Given the description of an element on the screen output the (x, y) to click on. 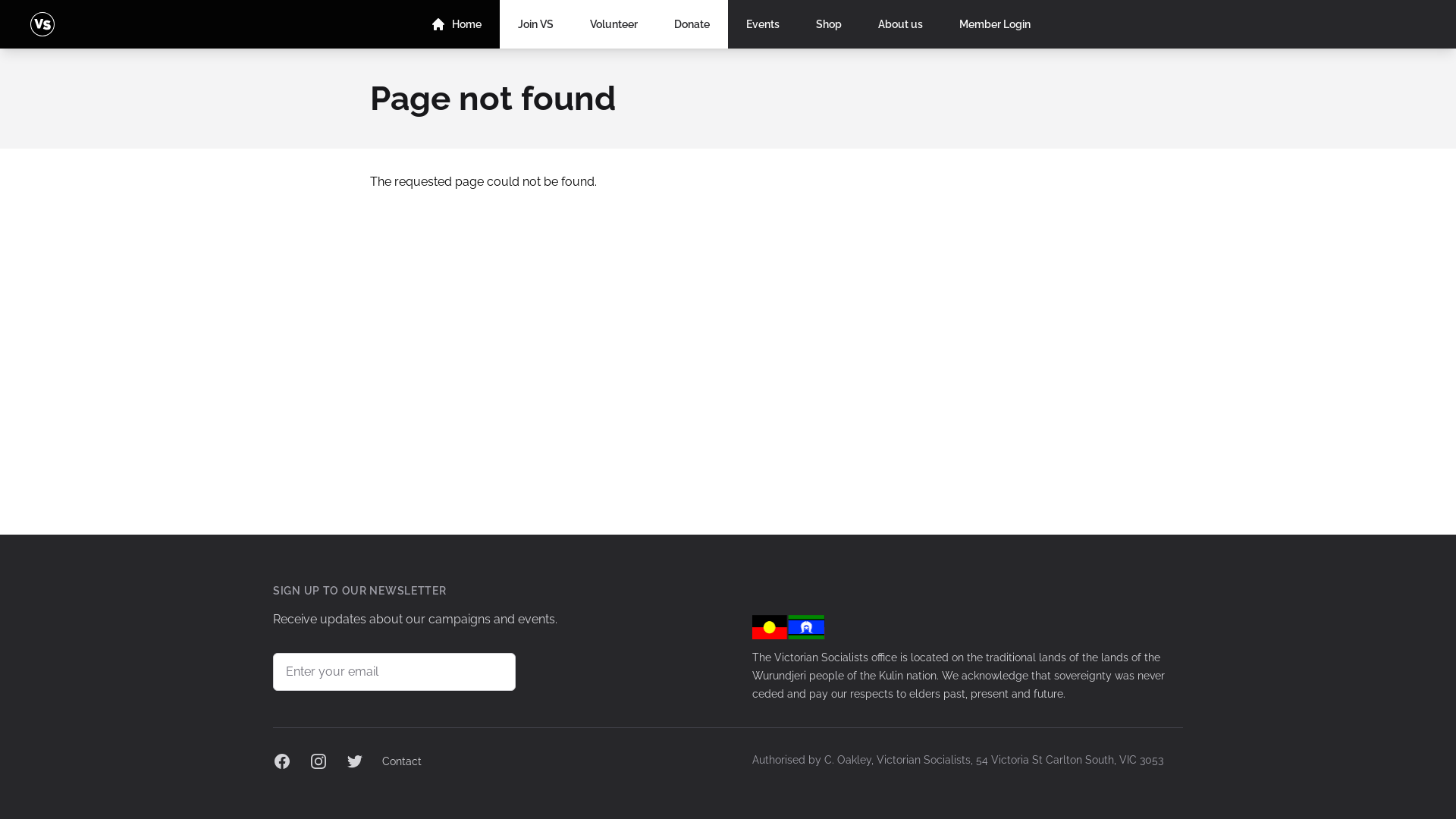
About us Element type: text (900, 24)
Home Element type: text (455, 24)
Donate Element type: text (691, 24)
Twitter Element type: text (354, 761)
Facebook Element type: text (282, 761)
Volunteer Element type: text (613, 24)
Member Login Element type: text (994, 24)
Shop Element type: text (828, 24)
Skip to main content Element type: text (0, 0)
Join VS Element type: text (535, 24)
Events Element type: text (762, 24)
Contact Element type: text (401, 760)
Instagram Element type: text (318, 761)
